Given the description of an element on the screen output the (x, y) to click on. 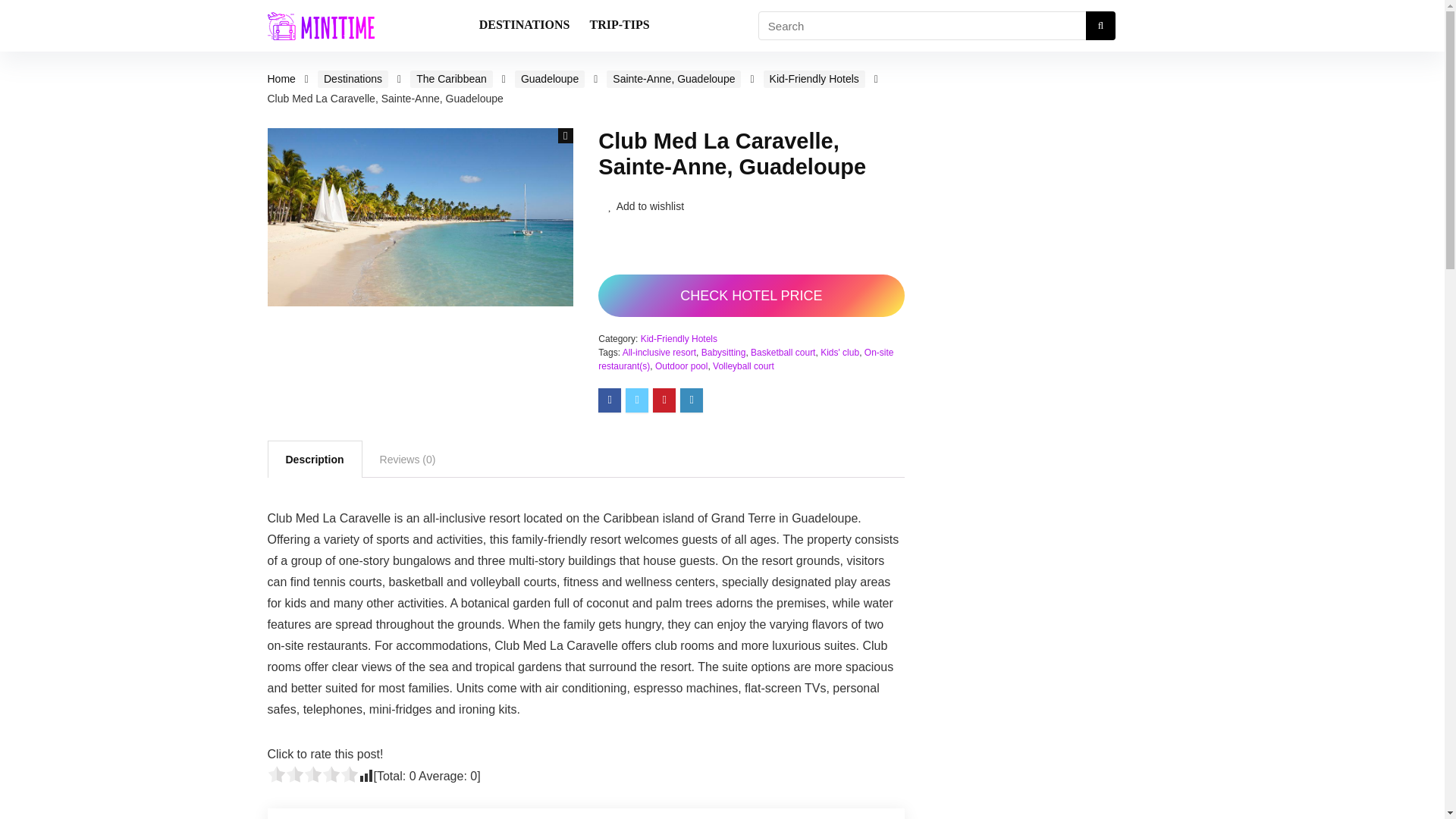
Babysitting (723, 352)
Sainte-Anne, Guadeloupe (674, 78)
All-inclusive resort (659, 352)
DESTINATIONS (523, 25)
TRIP-TIPS (619, 25)
Destinations (352, 78)
Basketball court (783, 352)
Kids' club (840, 352)
CHECK HOTEL PRICE (751, 295)
Kid-Friendly Hotels (813, 78)
The Caribbean (451, 78)
Guadeloupe (550, 78)
Kid-Friendly Hotels (678, 338)
Home (280, 78)
